Given the description of an element on the screen output the (x, y) to click on. 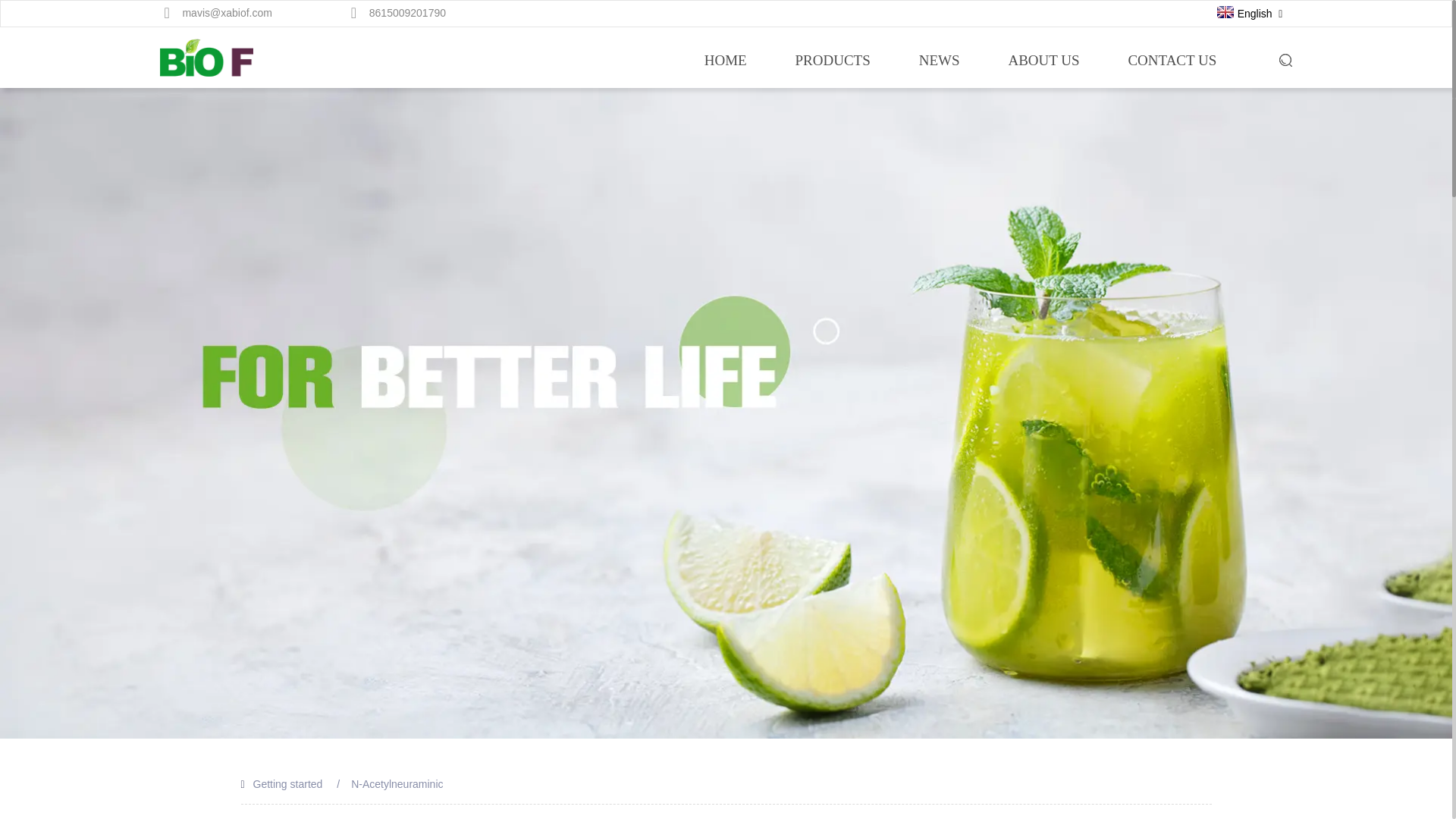
N-Acetylneuraminic (396, 784)
Getting started (288, 784)
CONTACT US (1170, 60)
PRODUCTS (832, 60)
NEWS (938, 60)
HOME (725, 60)
8615009201790 (407, 12)
English (1242, 13)
ABOUT US (1042, 60)
